Given the description of an element on the screen output the (x, y) to click on. 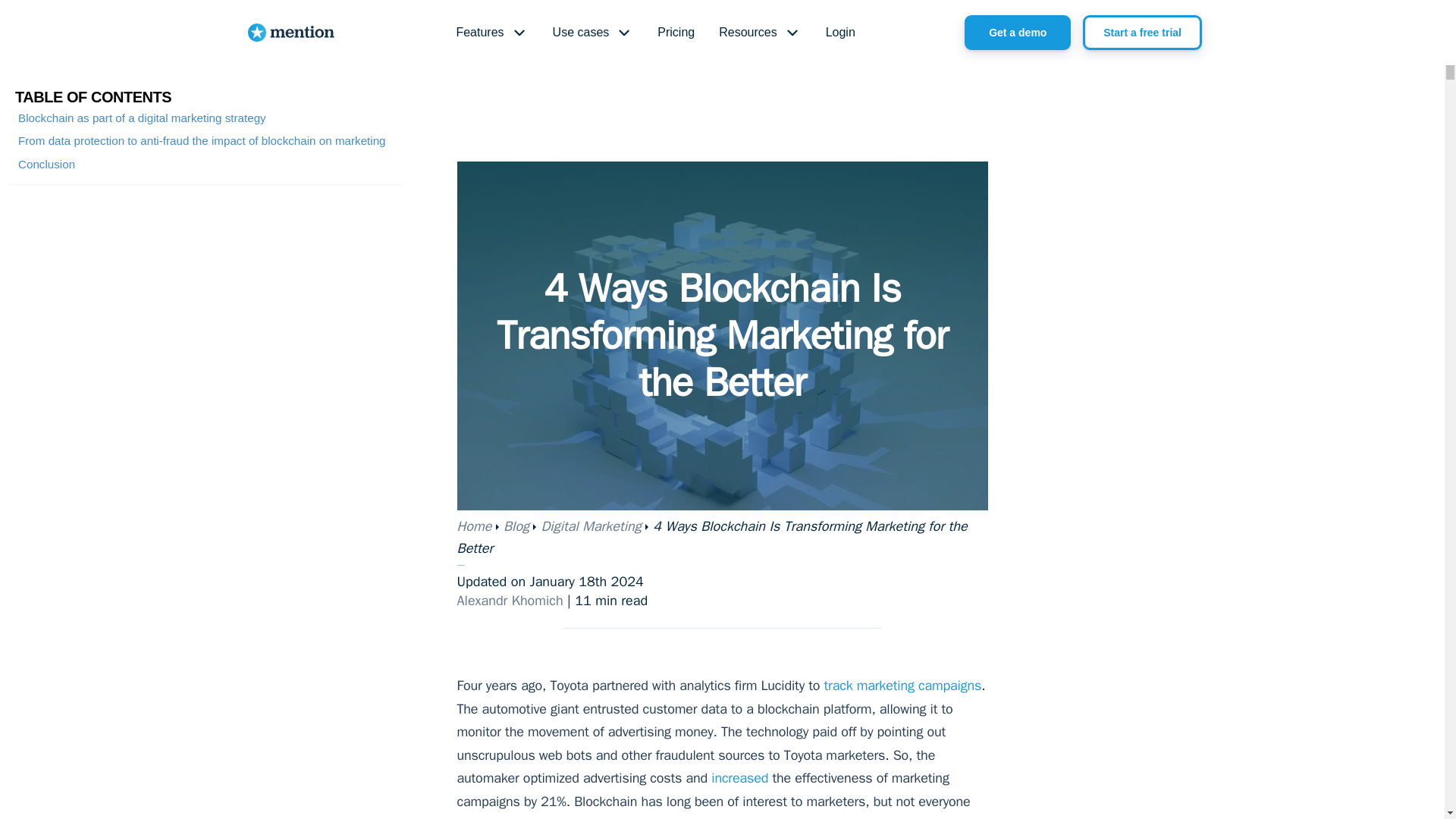
Pricing (675, 33)
Blockchain as part of a digital marketing strategy (141, 117)
Conclusion (46, 164)
